Given the description of an element on the screen output the (x, y) to click on. 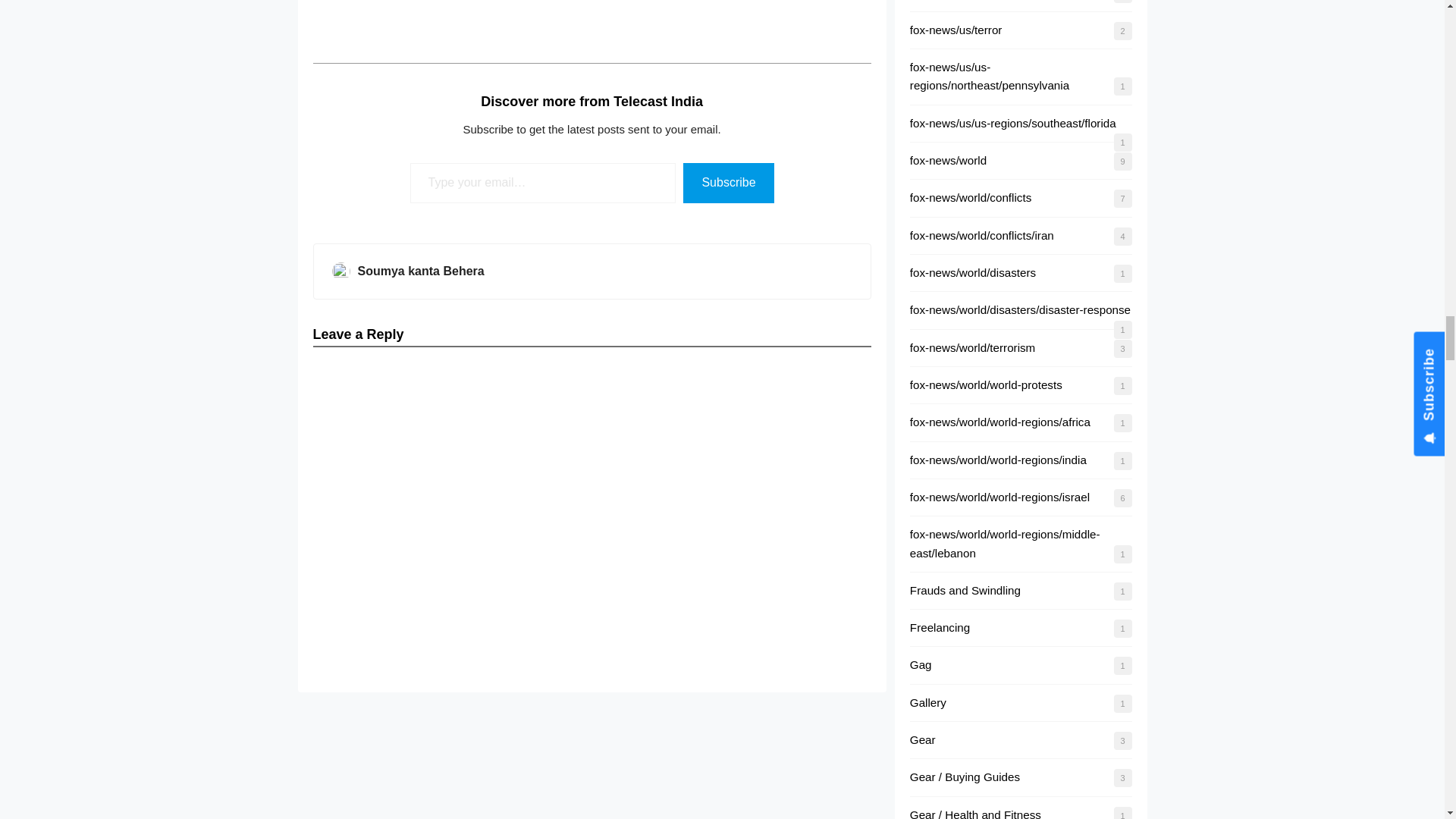
Subscribe (727, 182)
Please fill in this field. (543, 182)
